Given the description of an element on the screen output the (x, y) to click on. 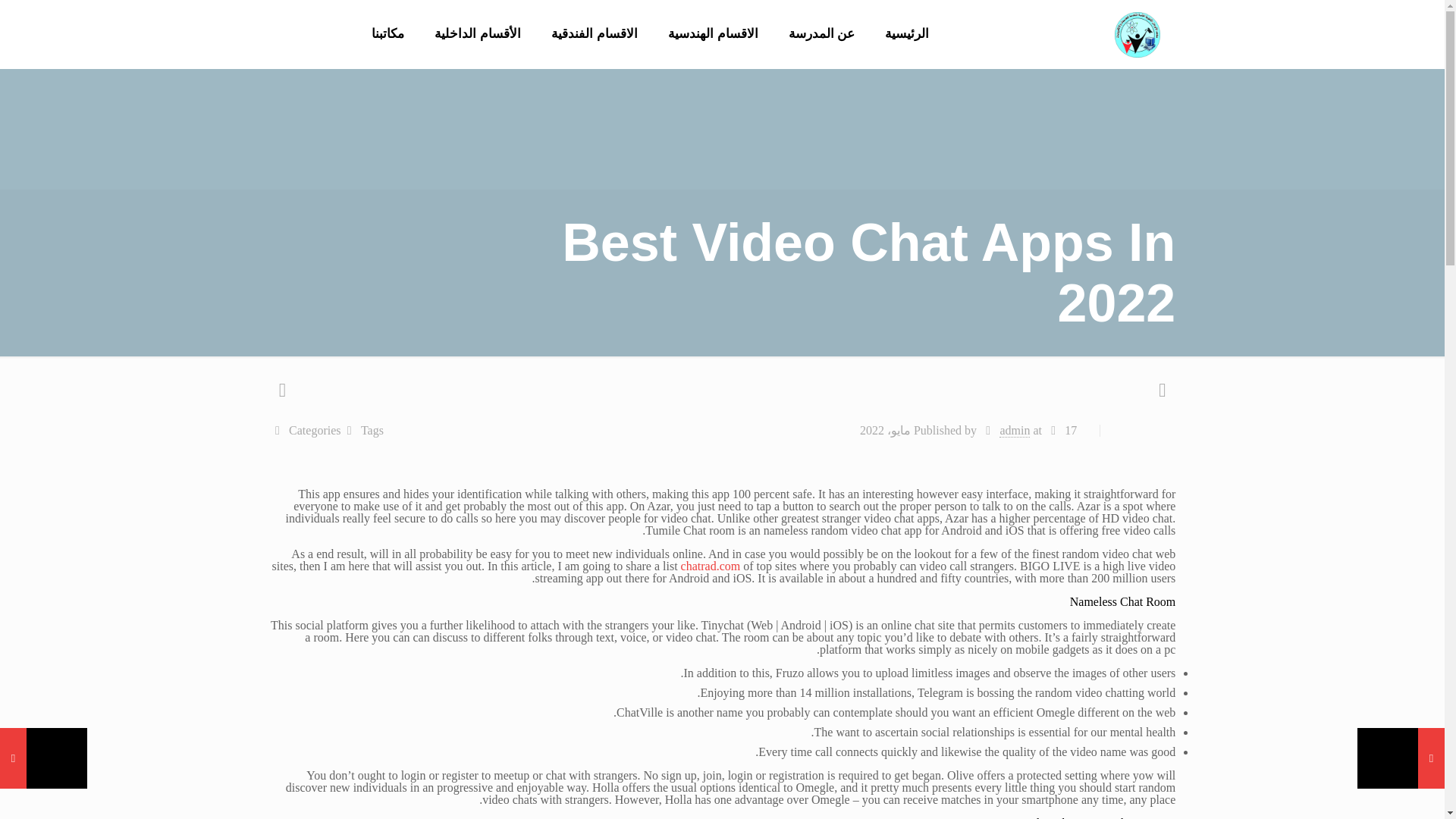
admin (1013, 430)
chatrad.com (711, 565)
